Given the description of an element on the screen output the (x, y) to click on. 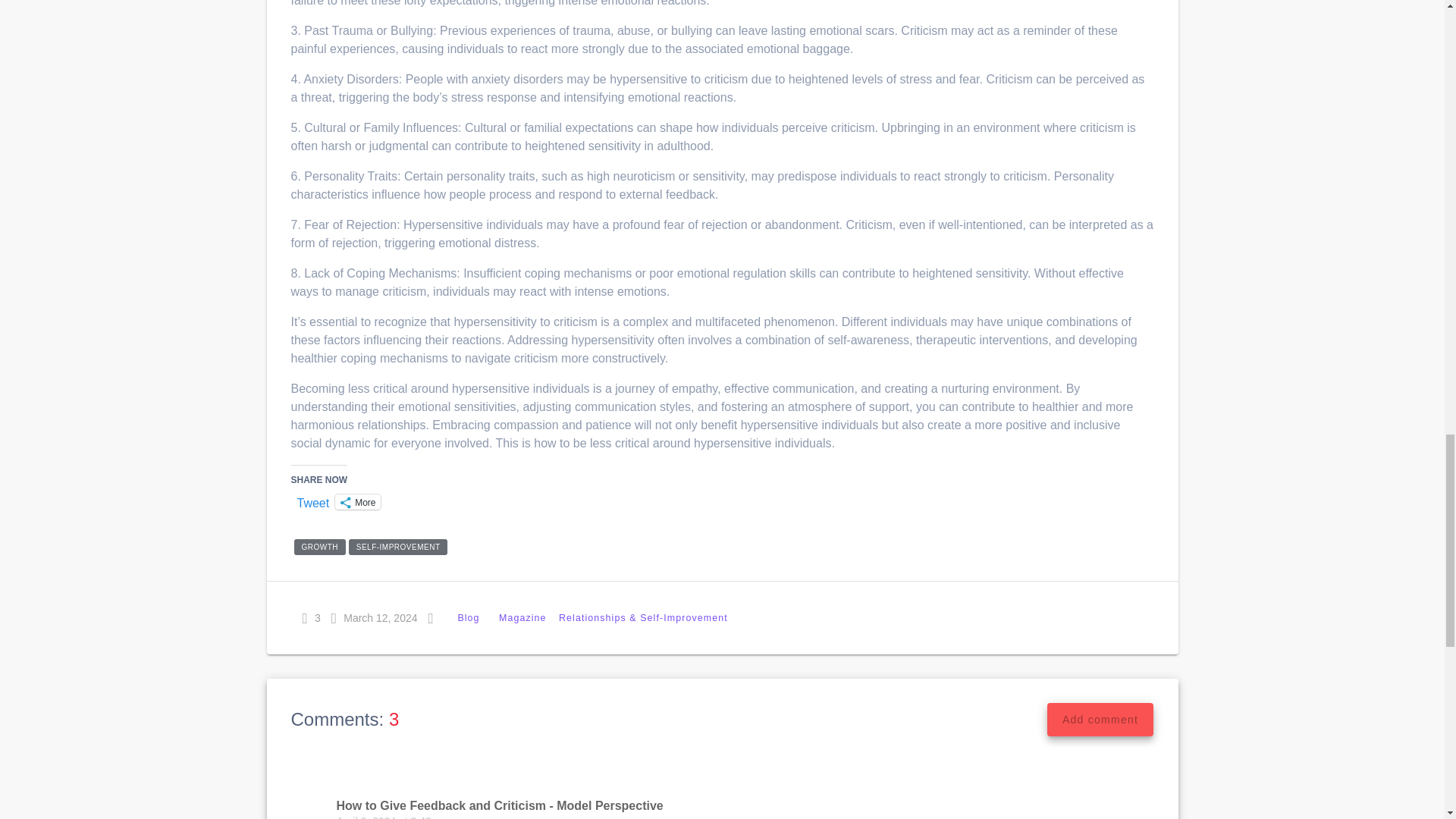
GROWTH (320, 546)
More (357, 501)
SELF-IMPROVEMENT (397, 546)
Tweet (313, 500)
